Given the description of an element on the screen output the (x, y) to click on. 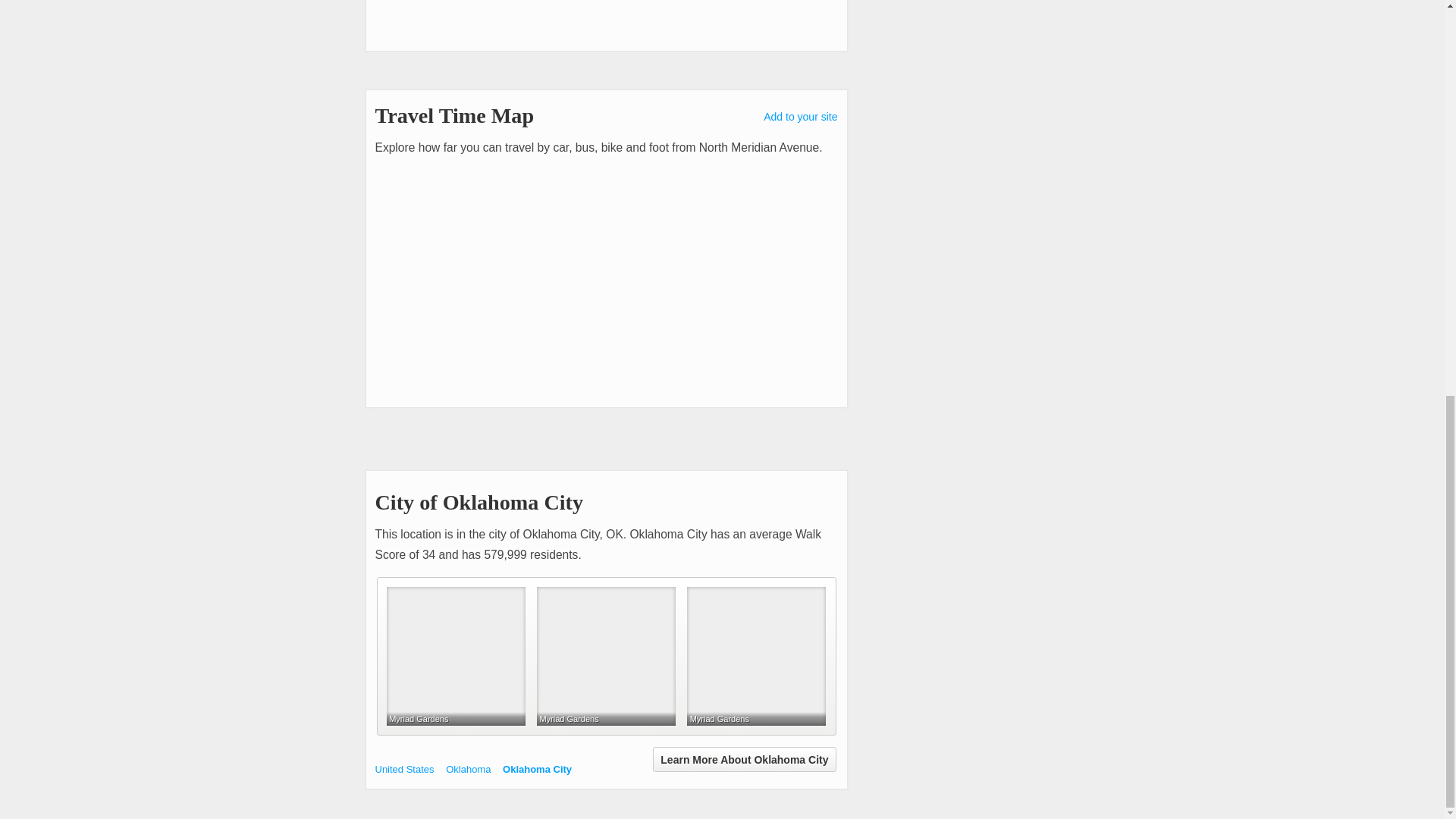
United States Walkability Rankings (403, 768)
Add to your site (799, 116)
Oklahoma (467, 768)
Learn More About Oklahoma City (605, 656)
Cities in Oklahoma state (743, 759)
United States (467, 768)
